Given the description of an element on the screen output the (x, y) to click on. 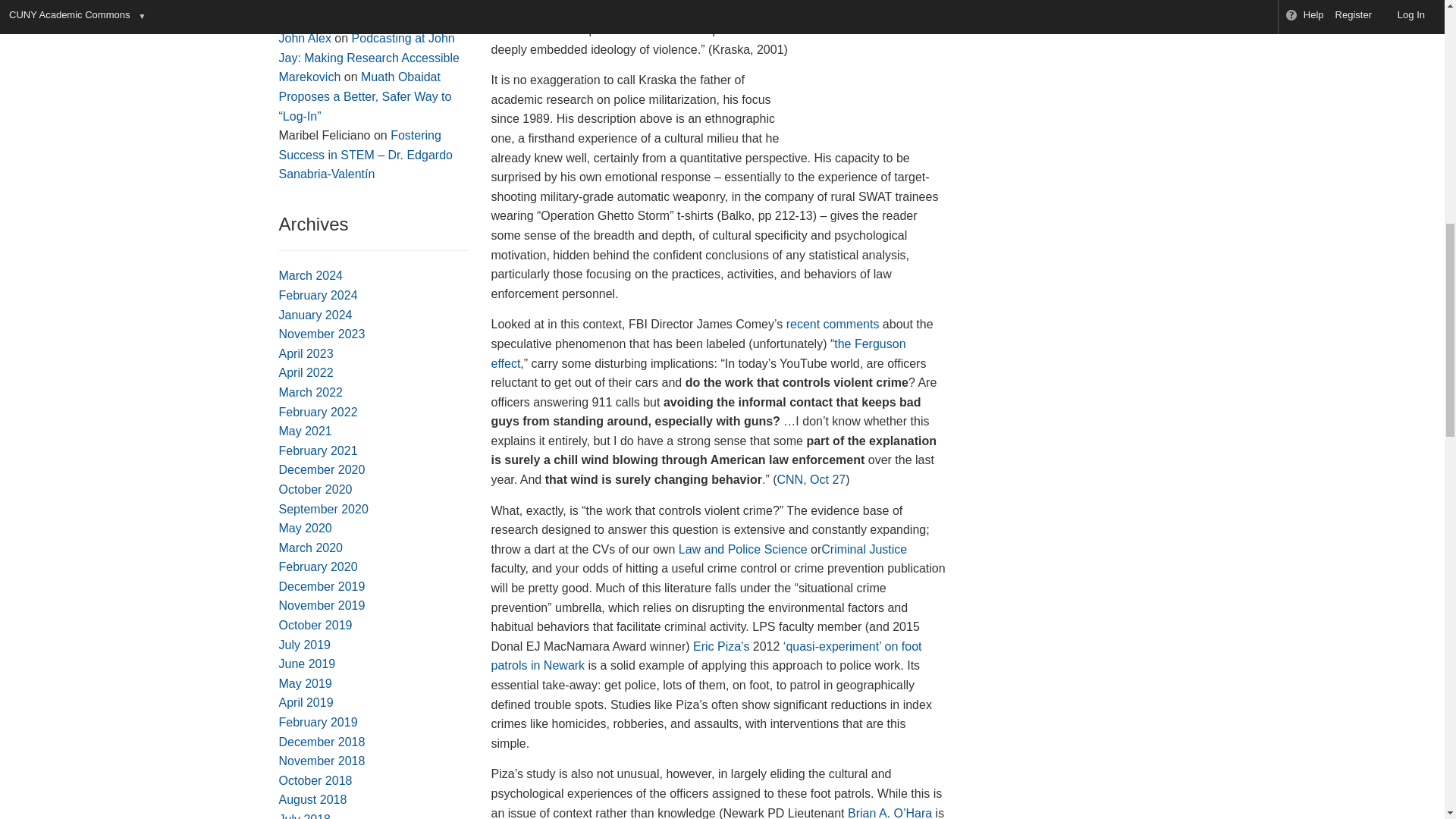
January 2024 (315, 314)
May 2021 (305, 431)
Podcasting at John Jay: Making Research Accessible (369, 47)
Geminair Solutions (330, 2)
April 2022 (306, 372)
February 2021 (318, 450)
Using Crime Science to Fight for Wildlife (373, 12)
February 2022 (318, 411)
November 2023 (322, 333)
Marekovich (309, 76)
